Given the description of an element on the screen output the (x, y) to click on. 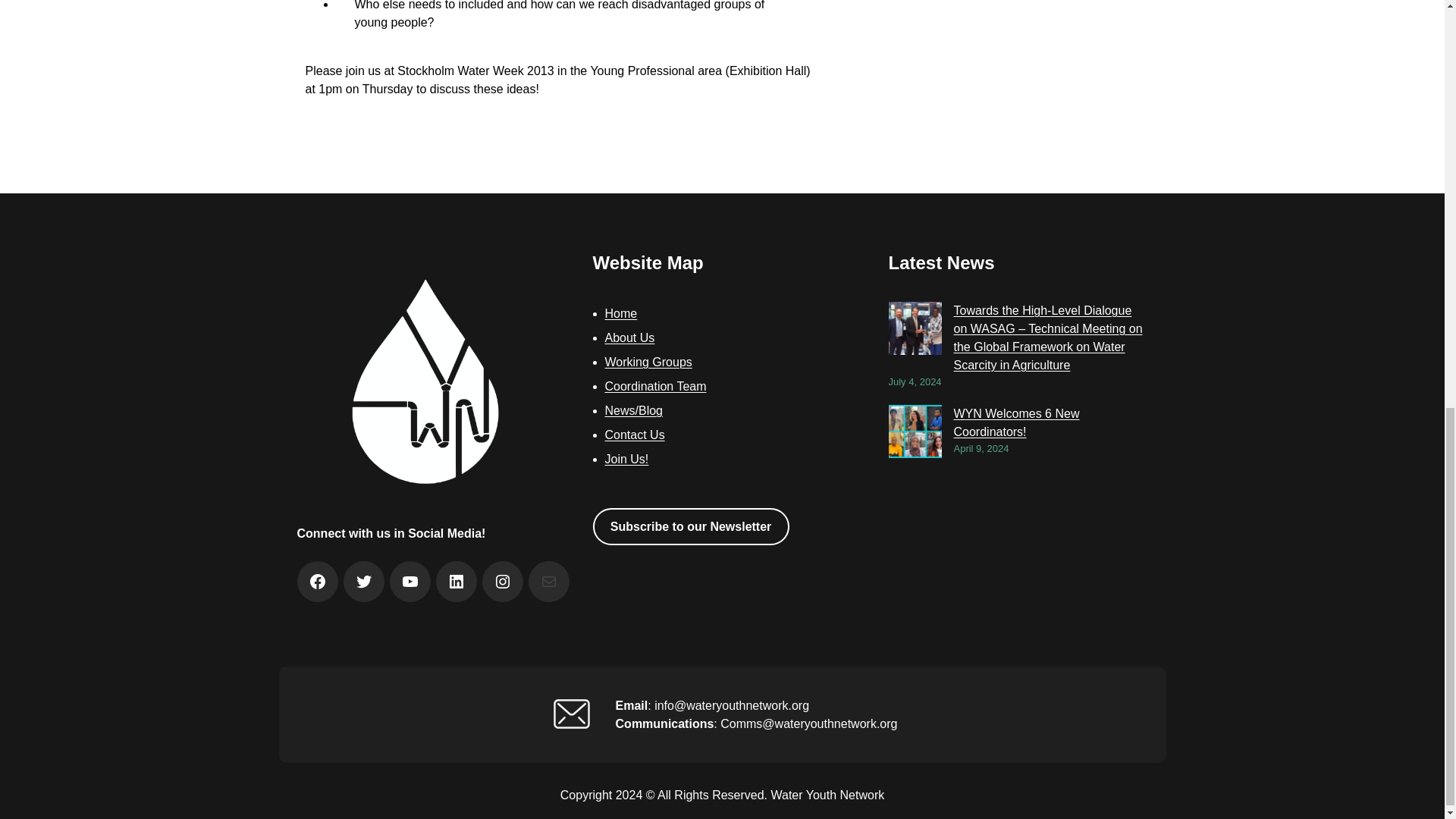
Twitter (363, 581)
LinkedIn (456, 581)
Facebook (317, 581)
YouTube (410, 581)
